Given the description of an element on the screen output the (x, y) to click on. 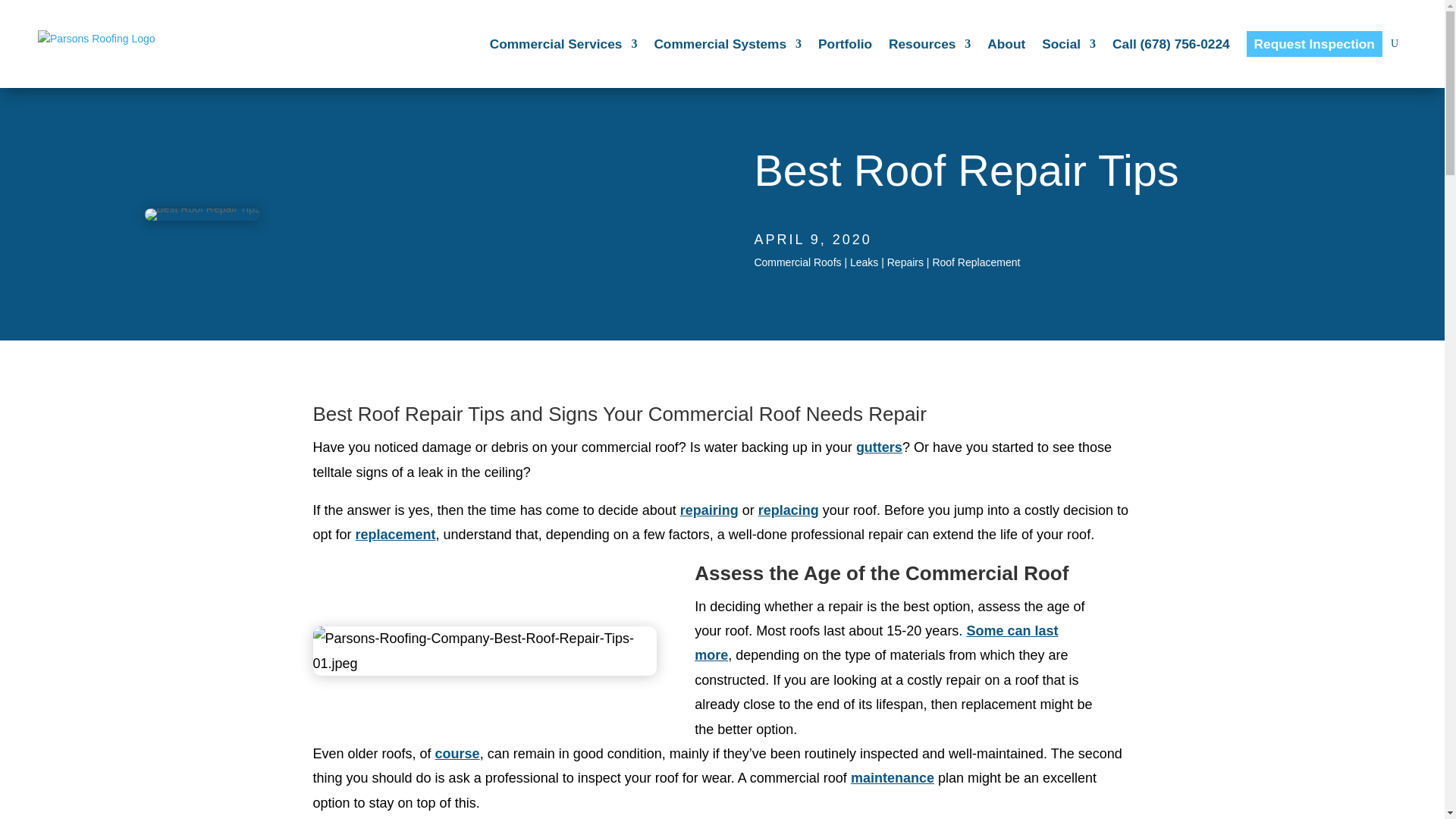
Request Inspection (1313, 43)
Commercial Roofing Systems (727, 43)
Commercial Roofing Resources (929, 43)
Commercial Roofing Services (563, 43)
Commercial Systems (727, 43)
Commercial Services (563, 43)
Resources (929, 43)
